Given the description of an element on the screen output the (x, y) to click on. 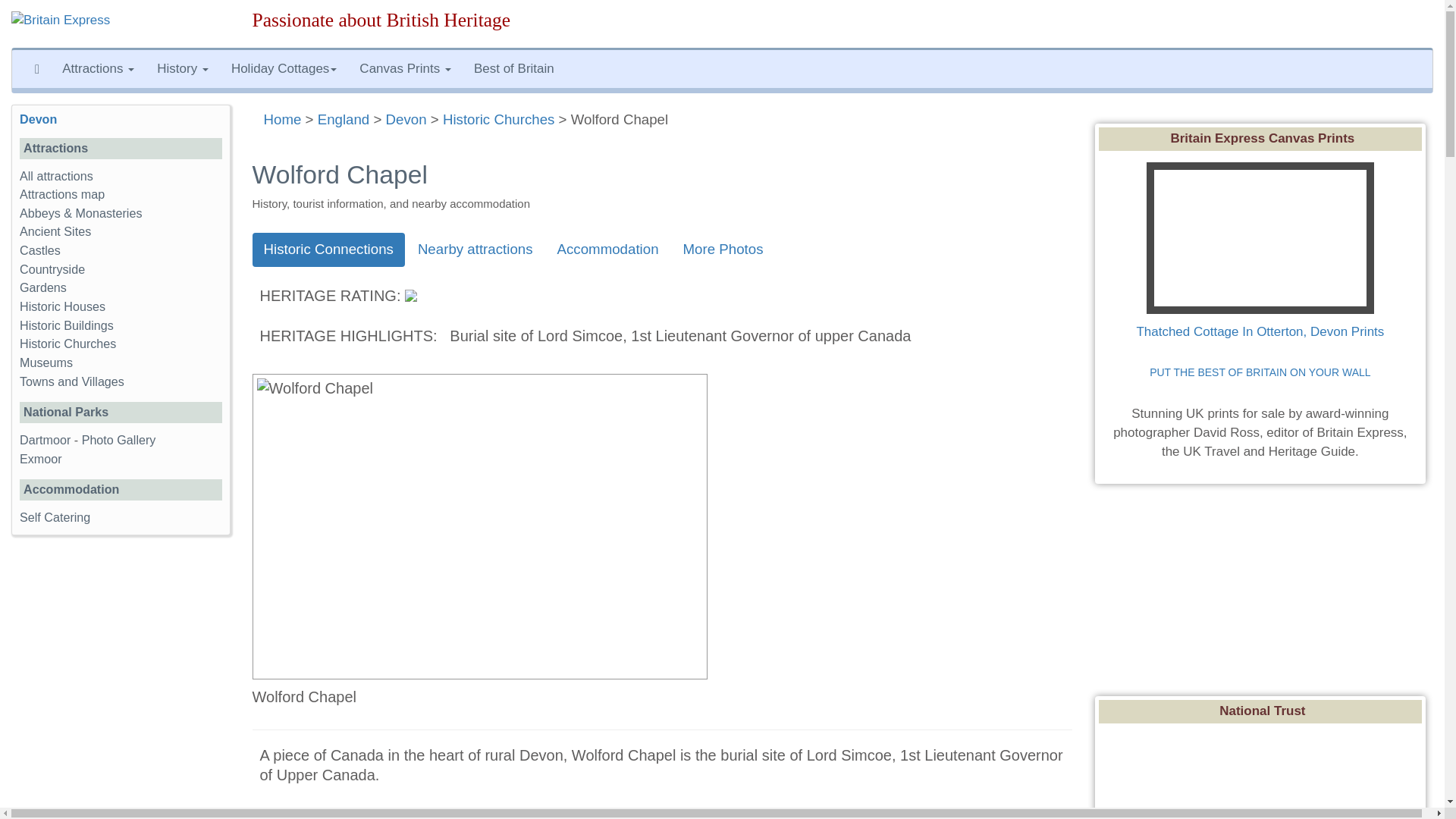
More Photos (722, 249)
Nearby attractions (475, 249)
Canvas Prints (405, 68)
Holiday Cottages (283, 68)
Best of Britain (514, 68)
Accommodation (607, 249)
Home (282, 119)
Devon (405, 119)
History (182, 68)
Historic Connections (327, 249)
